Given the description of an element on the screen output the (x, y) to click on. 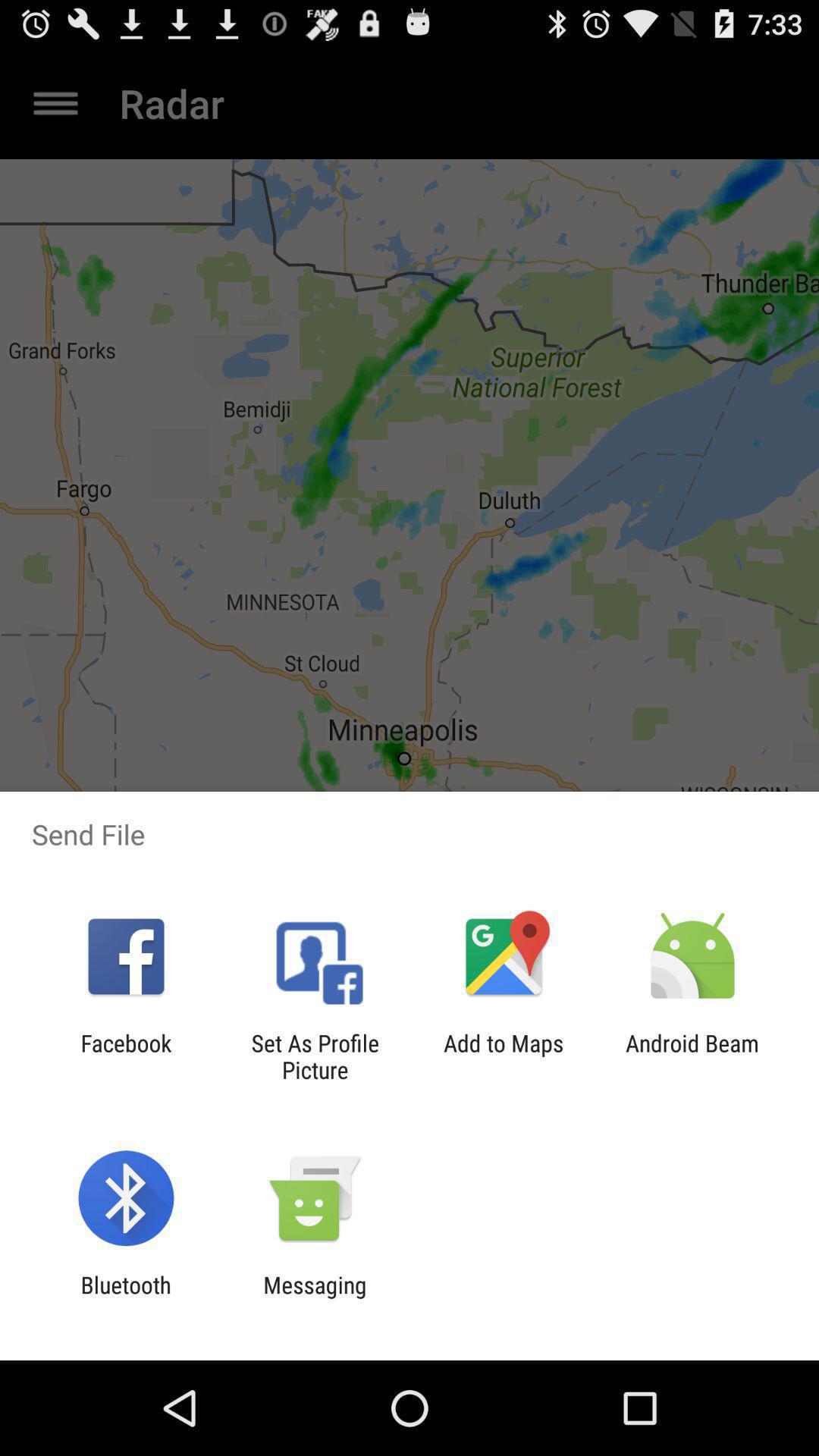
turn on app to the right of bluetooth (314, 1298)
